Given the description of an element on the screen output the (x, y) to click on. 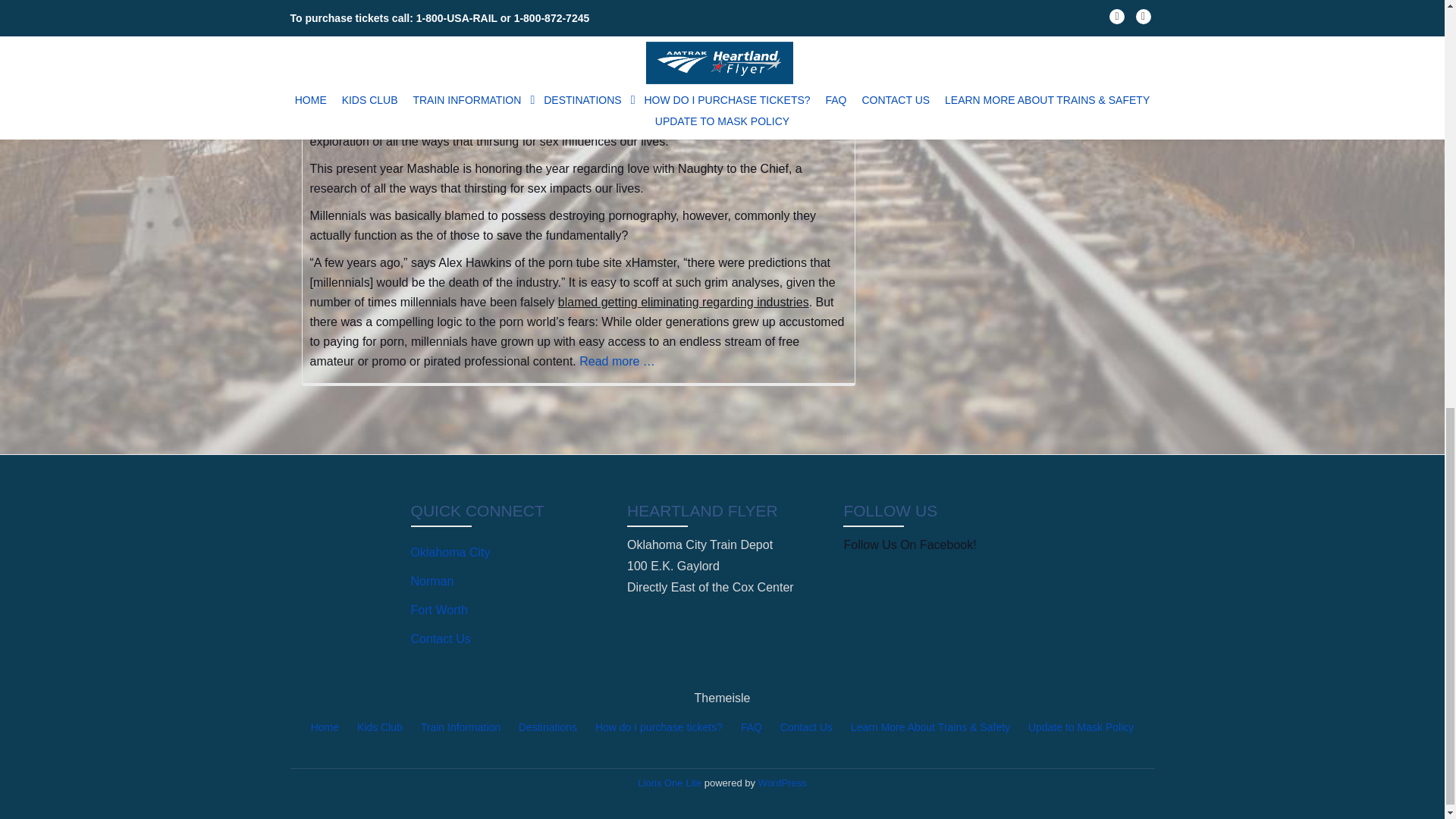
Fort Worth (438, 609)
Oklahoma City (450, 552)
Norman (432, 581)
HOW MILLENNIALS ARE RESCUING THE NEWEST PORN INDUSTRY (555, 71)
No comments (780, 10)
